Given the description of an element on the screen output the (x, y) to click on. 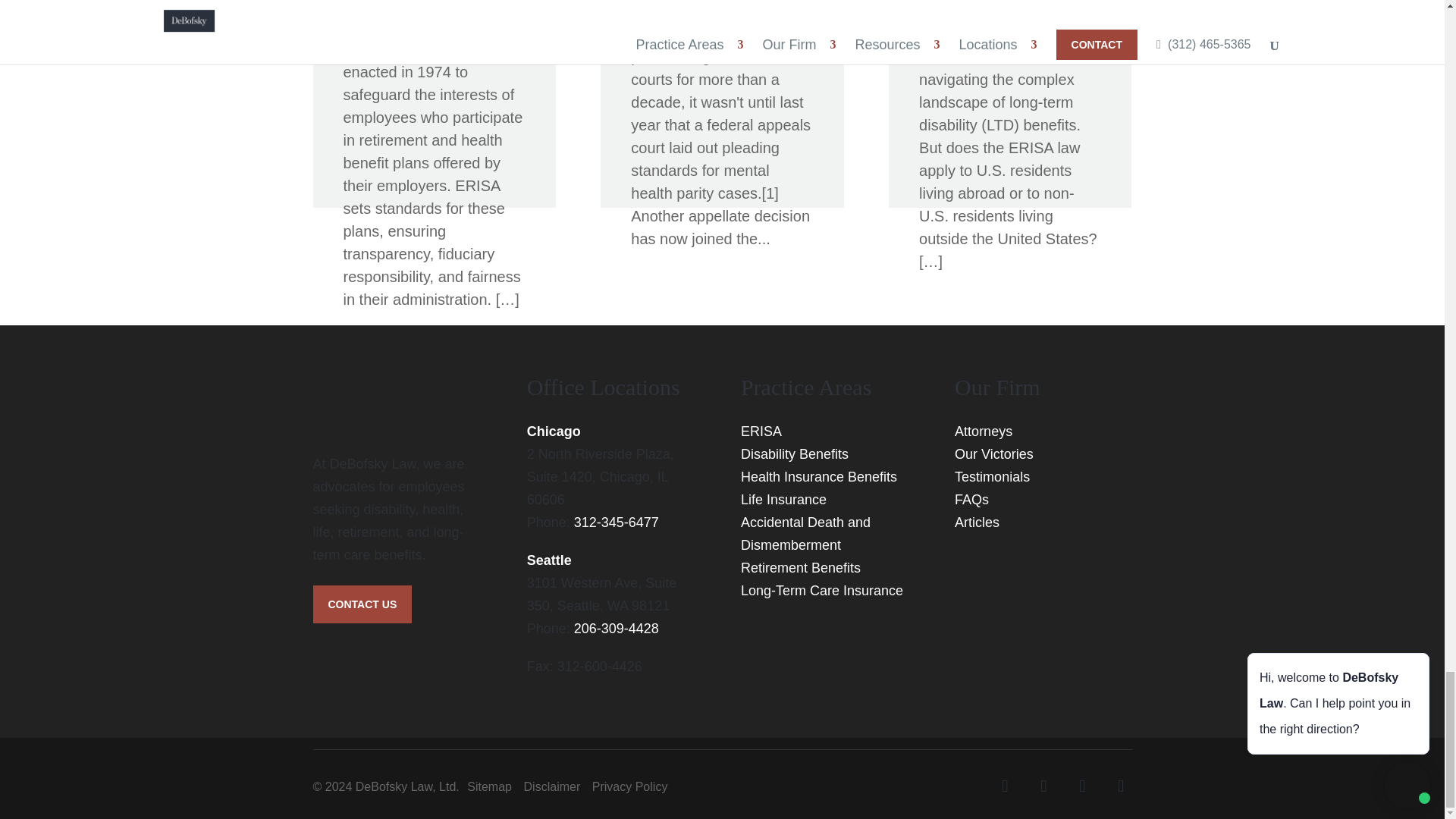
Customer reviews (1009, 615)
